Given the description of an element on the screen output the (x, y) to click on. 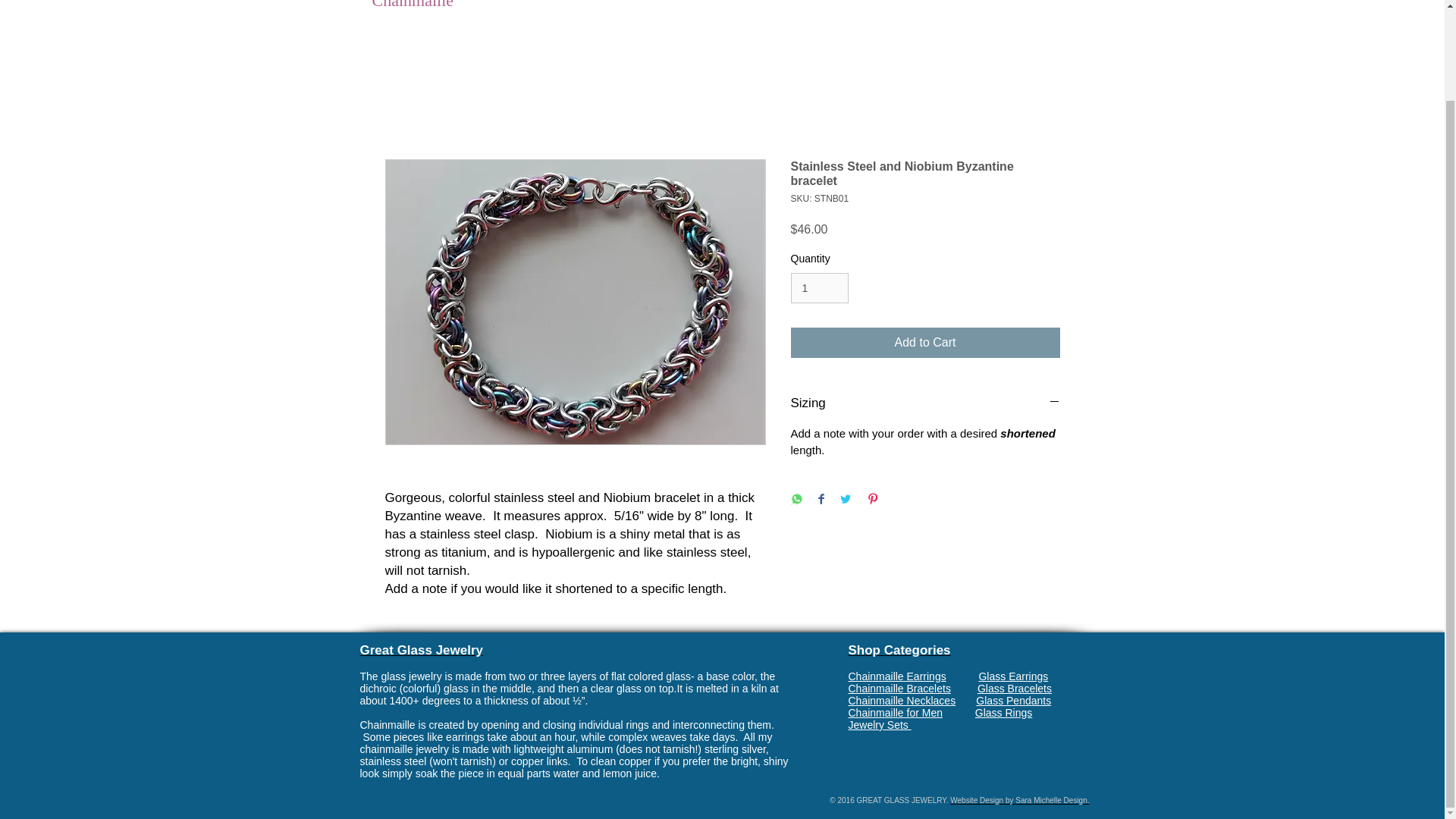
Glass Pendants (1013, 700)
Chainmaille Earrings (895, 676)
Chainmaille for Men            (910, 712)
Chainmaille Necklace (898, 700)
Glass Rings (1003, 712)
Sizing (924, 402)
1 (818, 287)
Jewelry Sets  (879, 725)
Website Design by Sara Michelle Design. (1019, 800)
Glass Bracelets (1013, 688)
Chainmaille Bracelets (898, 688)
Add to Cart (924, 342)
Glass Earrings (1013, 676)
